Given the description of an element on the screen output the (x, y) to click on. 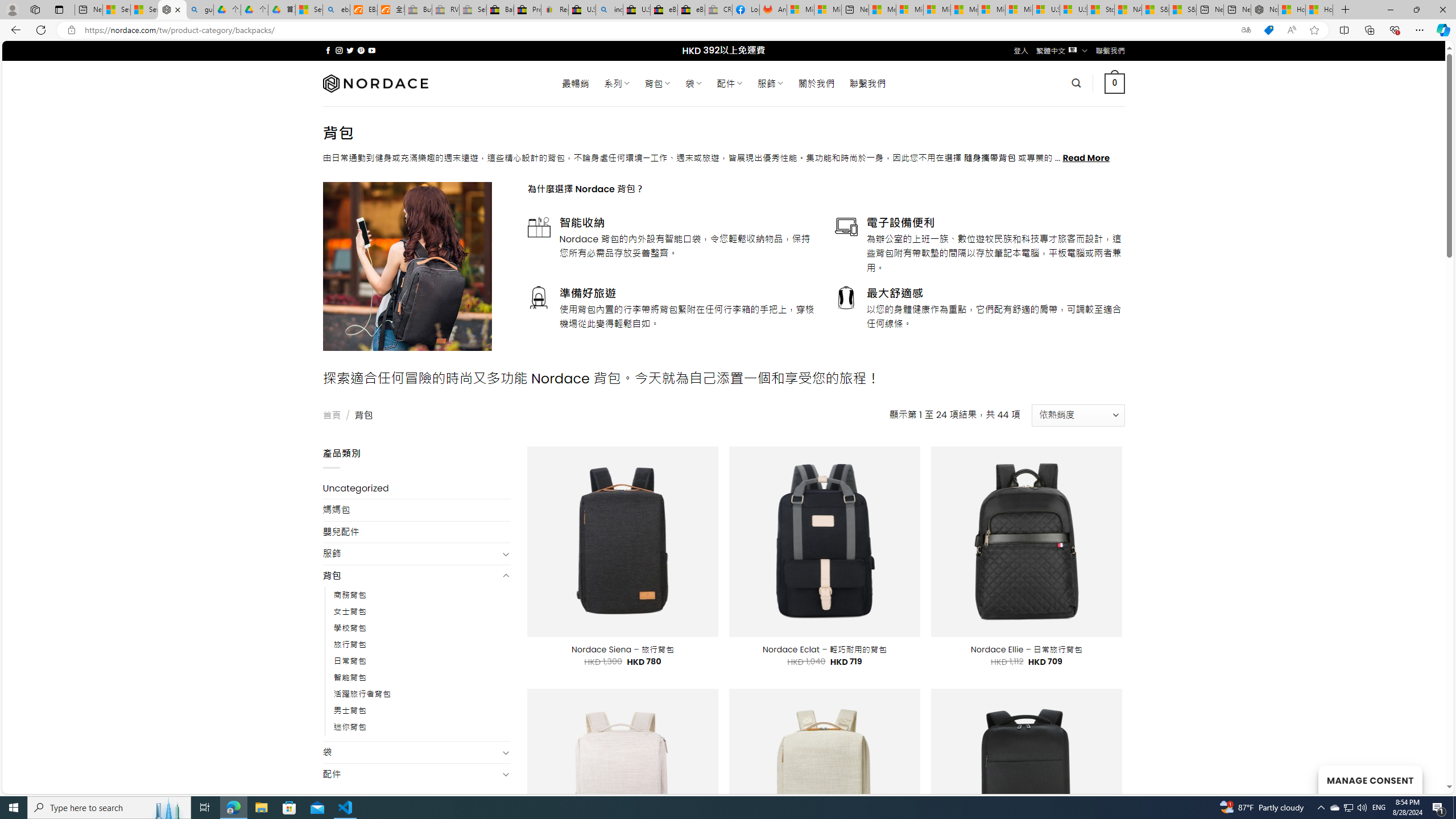
Sell worldwide with eBay - Sleeping (473, 9)
Uncategorized (416, 488)
Follow on Pinterest (360, 50)
S&P 500, Nasdaq end lower, weighed by Nvidia dip | Watch (1182, 9)
